Given the description of an element on the screen output the (x, y) to click on. 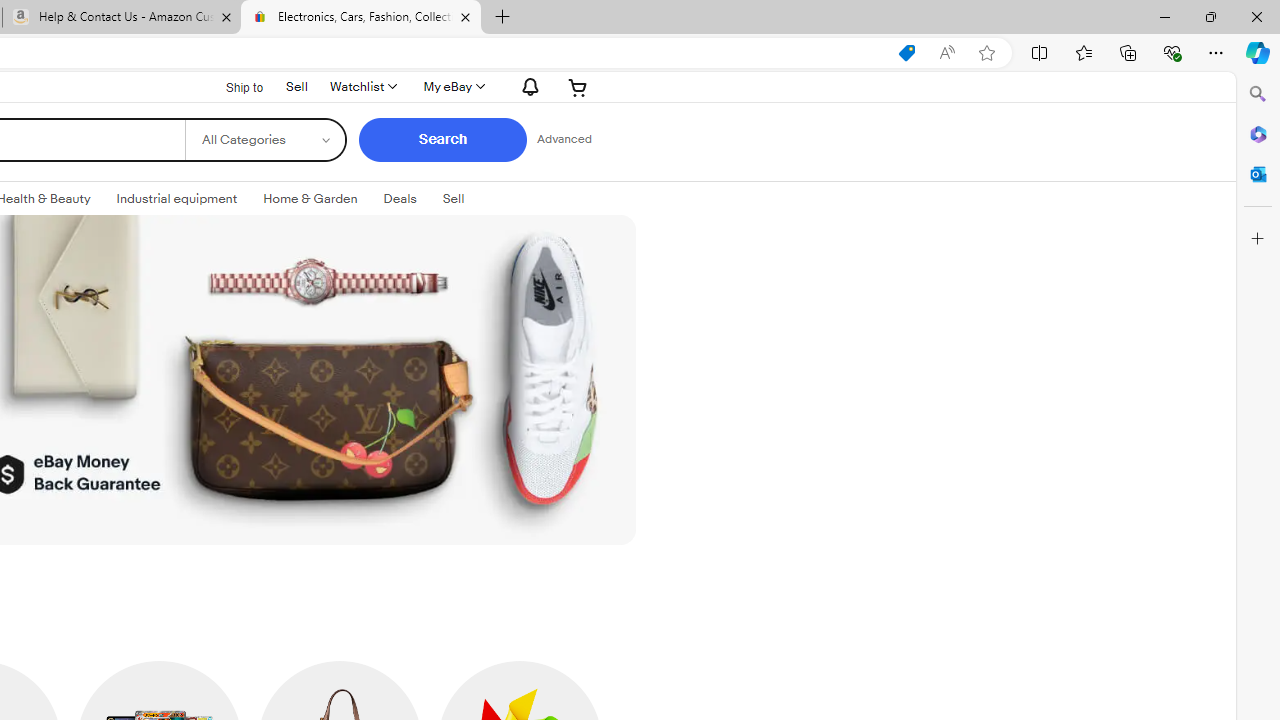
Deals (399, 199)
Your shopping cart (578, 86)
Industrial equipmentExpand: Industrial equipment (176, 199)
Advanced Search (563, 139)
Ship to (231, 85)
